Given the description of an element on the screen output the (x, y) to click on. 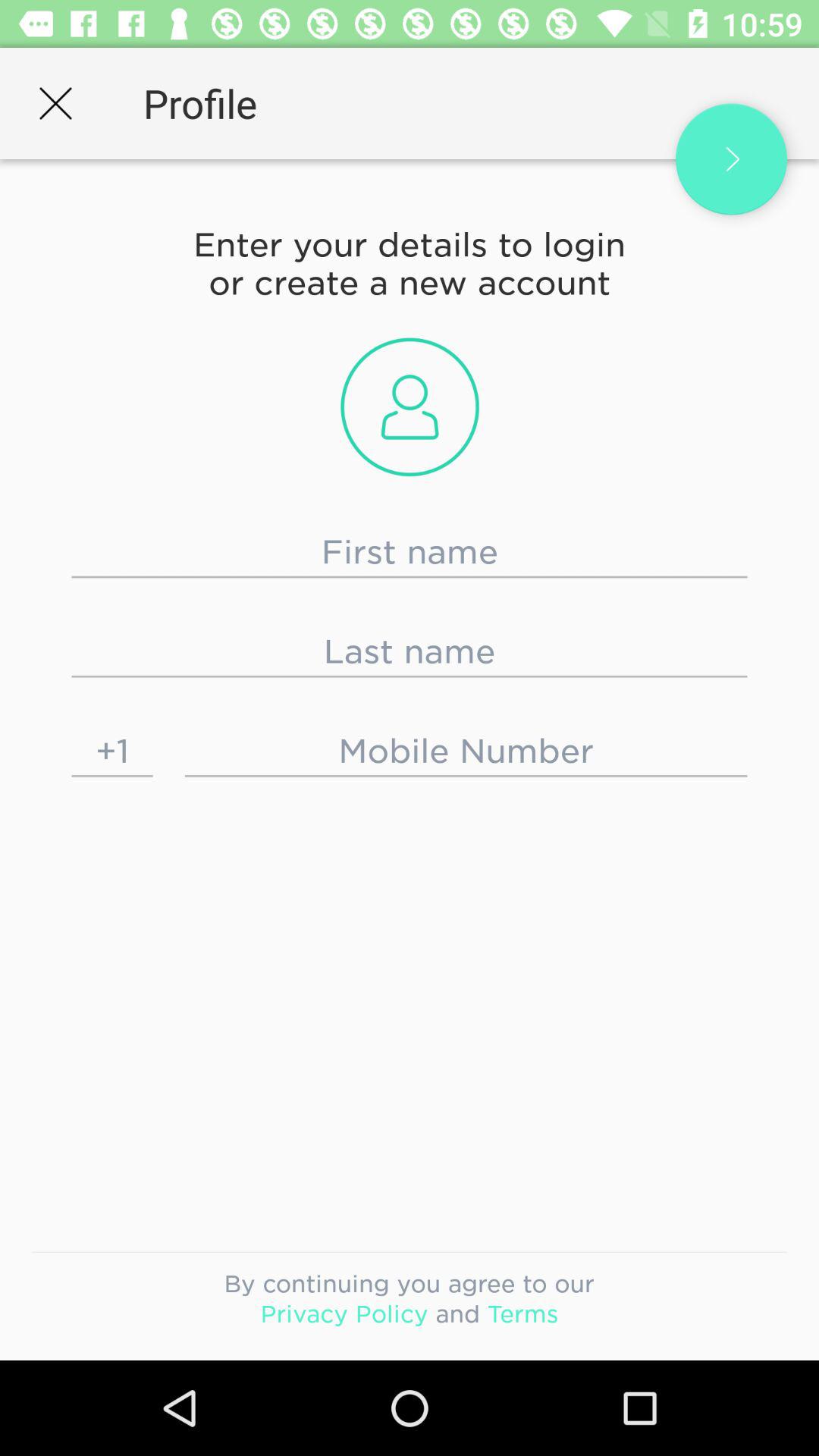
enter your last name (409, 651)
